Given the description of an element on the screen output the (x, y) to click on. 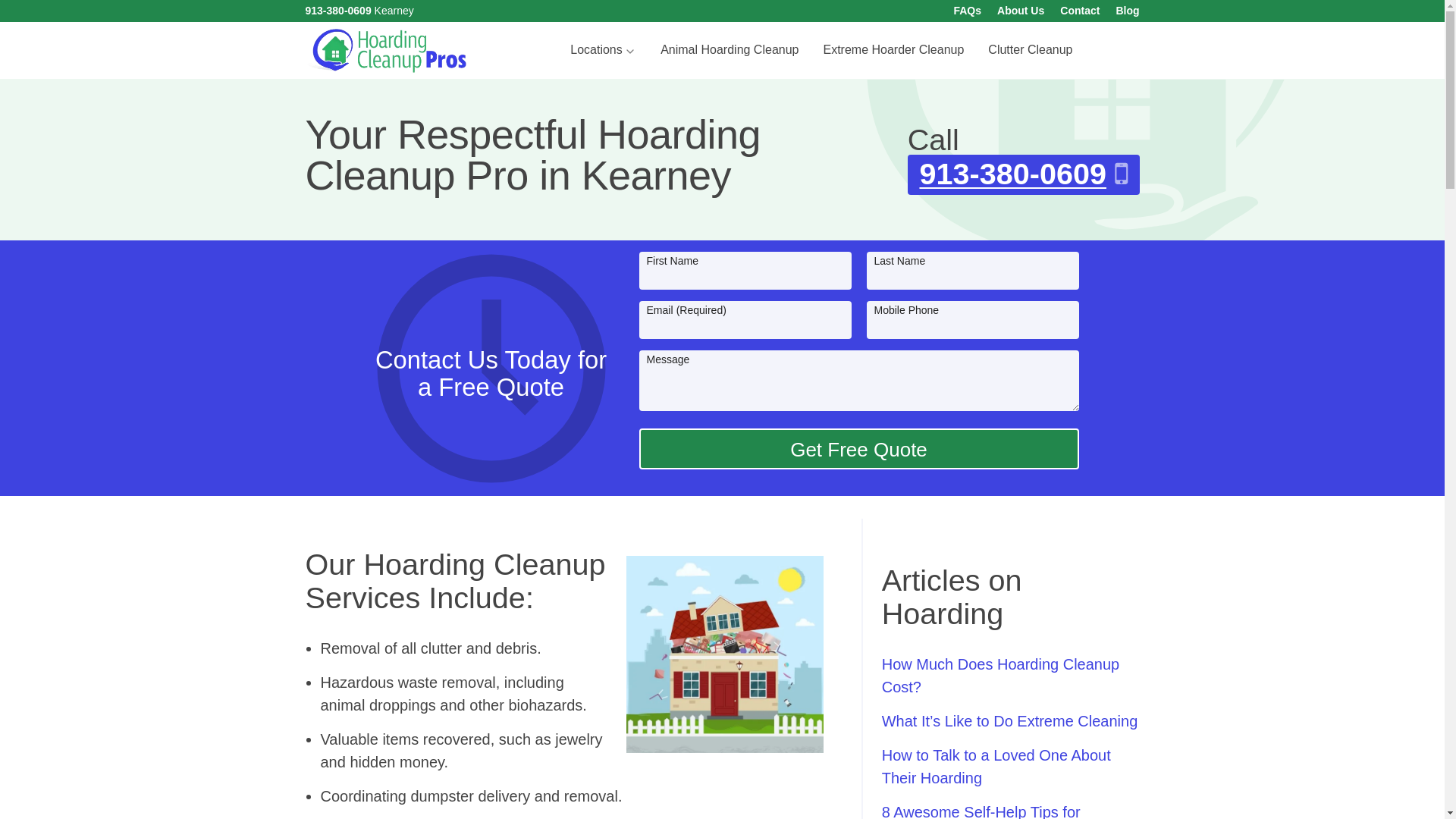
Extreme Hoarder Cleanup (892, 49)
Animal Hoarding Cleanup (728, 49)
Clutter Cleanup (1029, 49)
Locations (602, 49)
Contact (1079, 10)
Blog (1126, 10)
FAQs (967, 10)
913-380-0609 (1023, 174)
Get Free Quote (858, 449)
913-380-0609 (337, 10)
About Us (1020, 10)
